Given the description of an element on the screen output the (x, y) to click on. 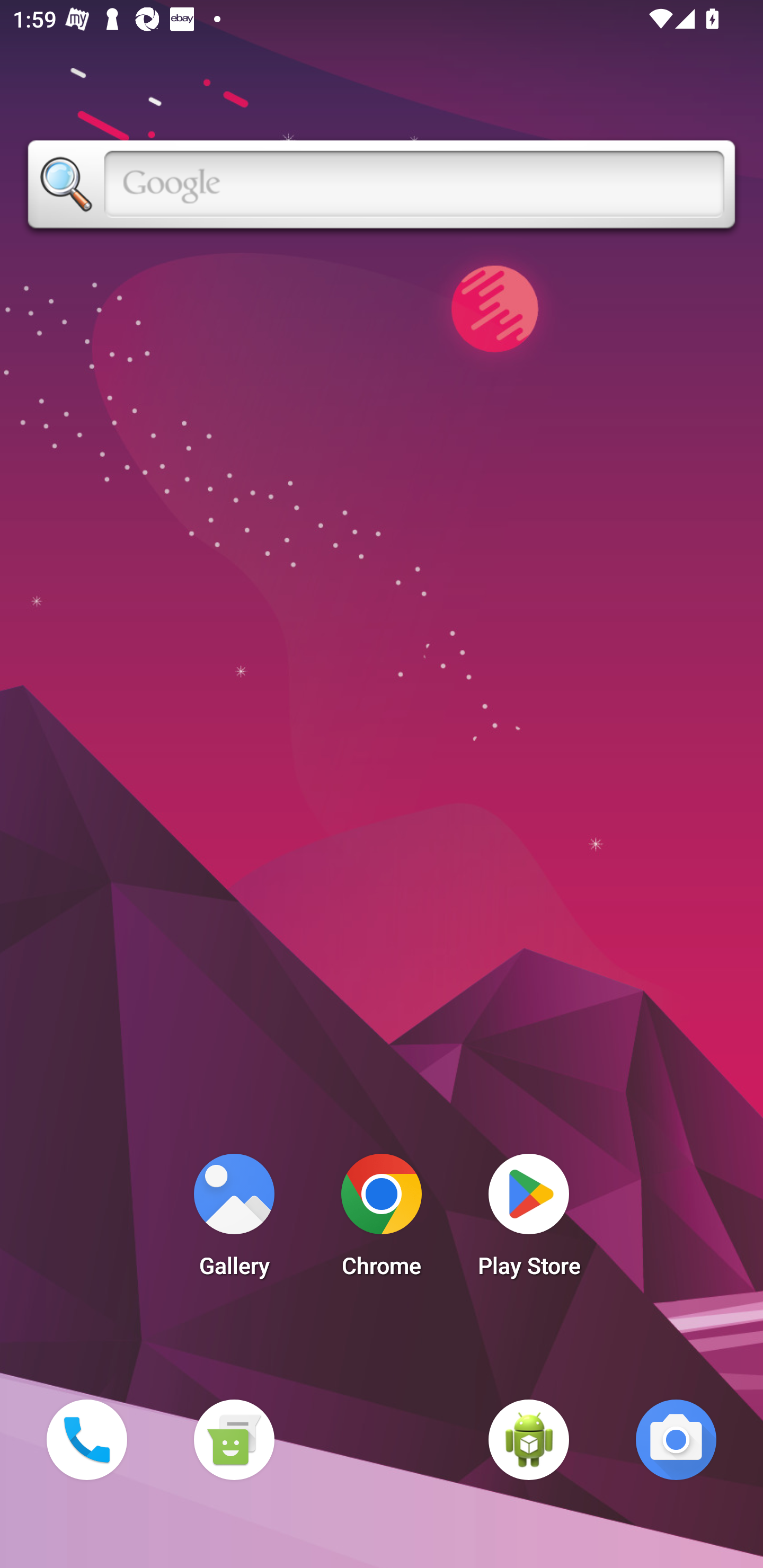
Gallery (233, 1220)
Chrome (381, 1220)
Play Store (528, 1220)
Phone (86, 1439)
Messaging (233, 1439)
WebView Browser Tester (528, 1439)
Camera (676, 1439)
